Given the description of an element on the screen output the (x, y) to click on. 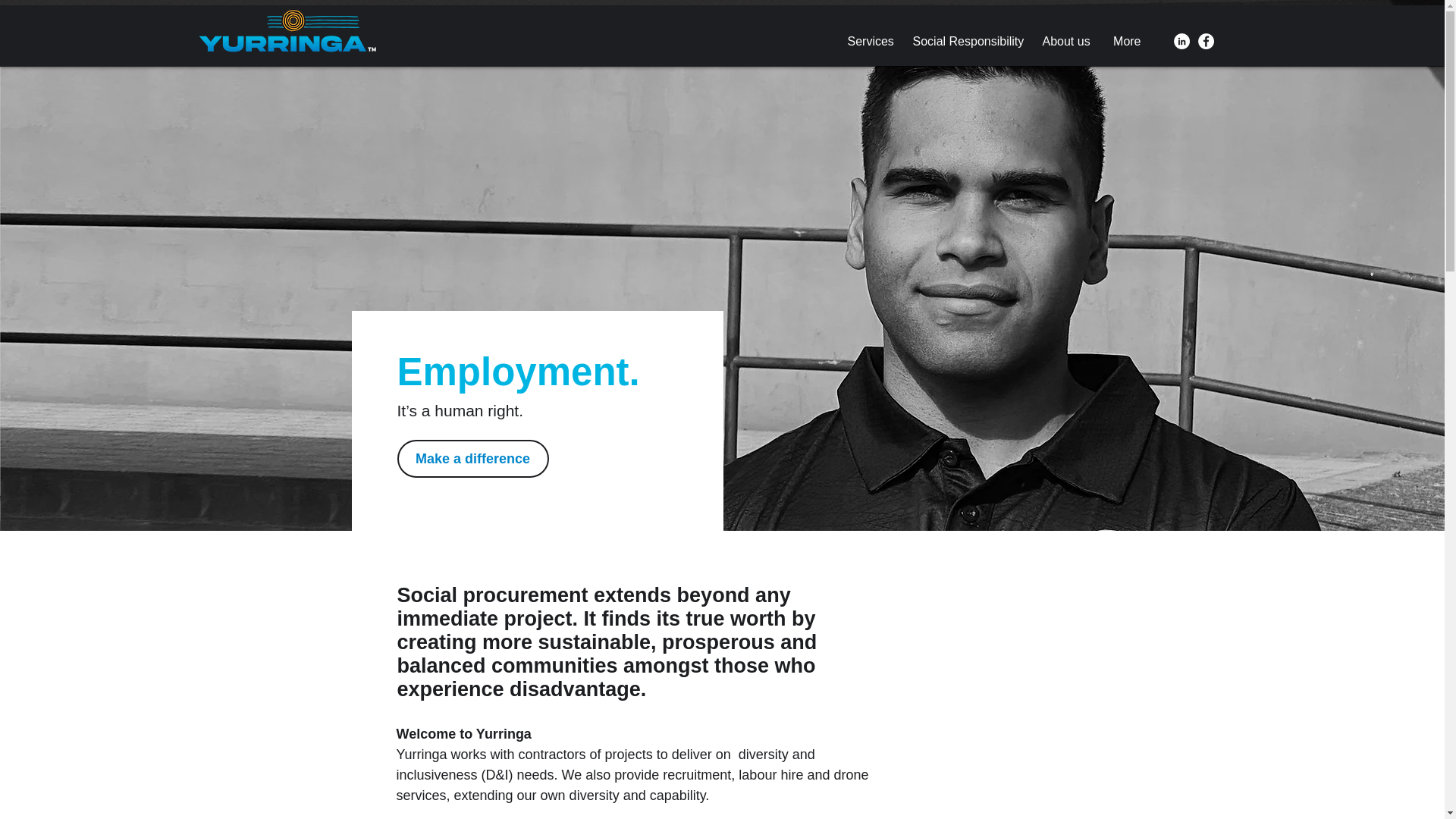
About us (1065, 41)
Make a difference (472, 458)
Services (868, 41)
Social Responsibility (965, 41)
